Given the description of an element on the screen output the (x, y) to click on. 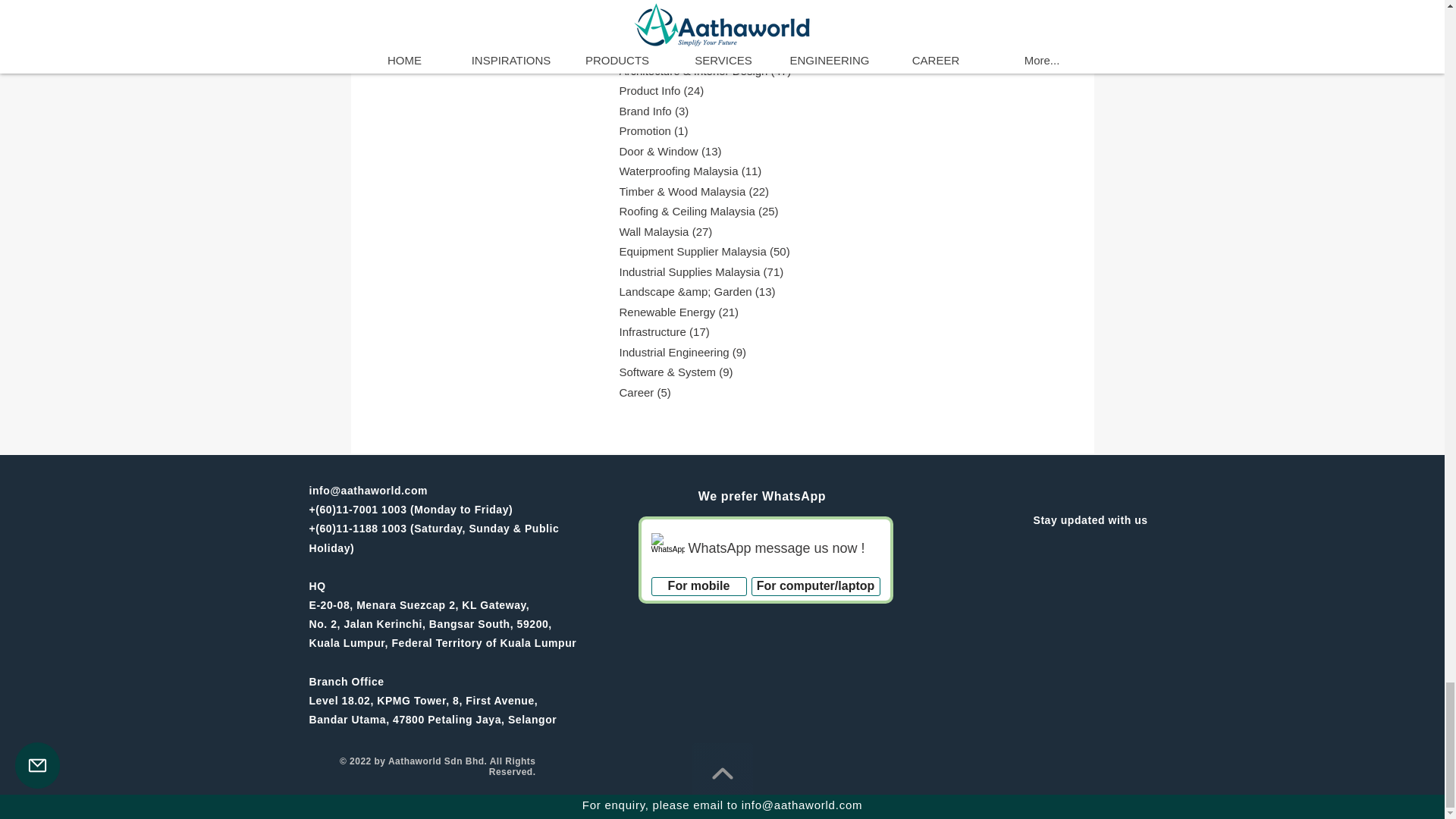
Repairing Contractors in Malaysia (493, 15)
